Given the description of an element on the screen output the (x, y) to click on. 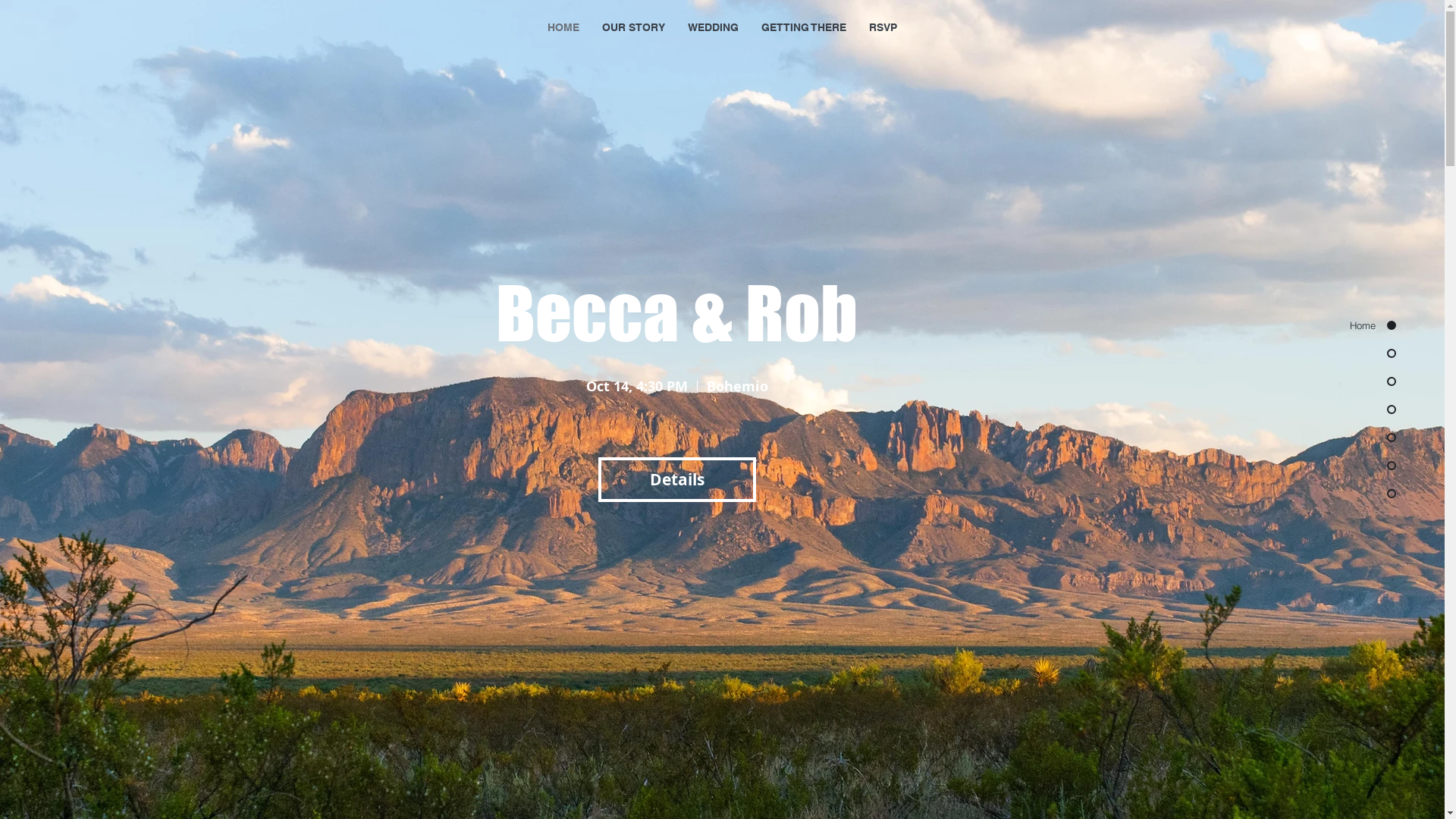
Becca & Rob Element type: text (676, 312)
HOME Element type: text (562, 27)
GETTING THERE Element type: text (802, 27)
WEDDING Element type: text (712, 27)
Details Element type: text (676, 479)
Home Element type: text (1353, 325)
OUR STORY Element type: text (632, 27)
RSVP Element type: text (881, 27)
